Given the description of an element on the screen output the (x, y) to click on. 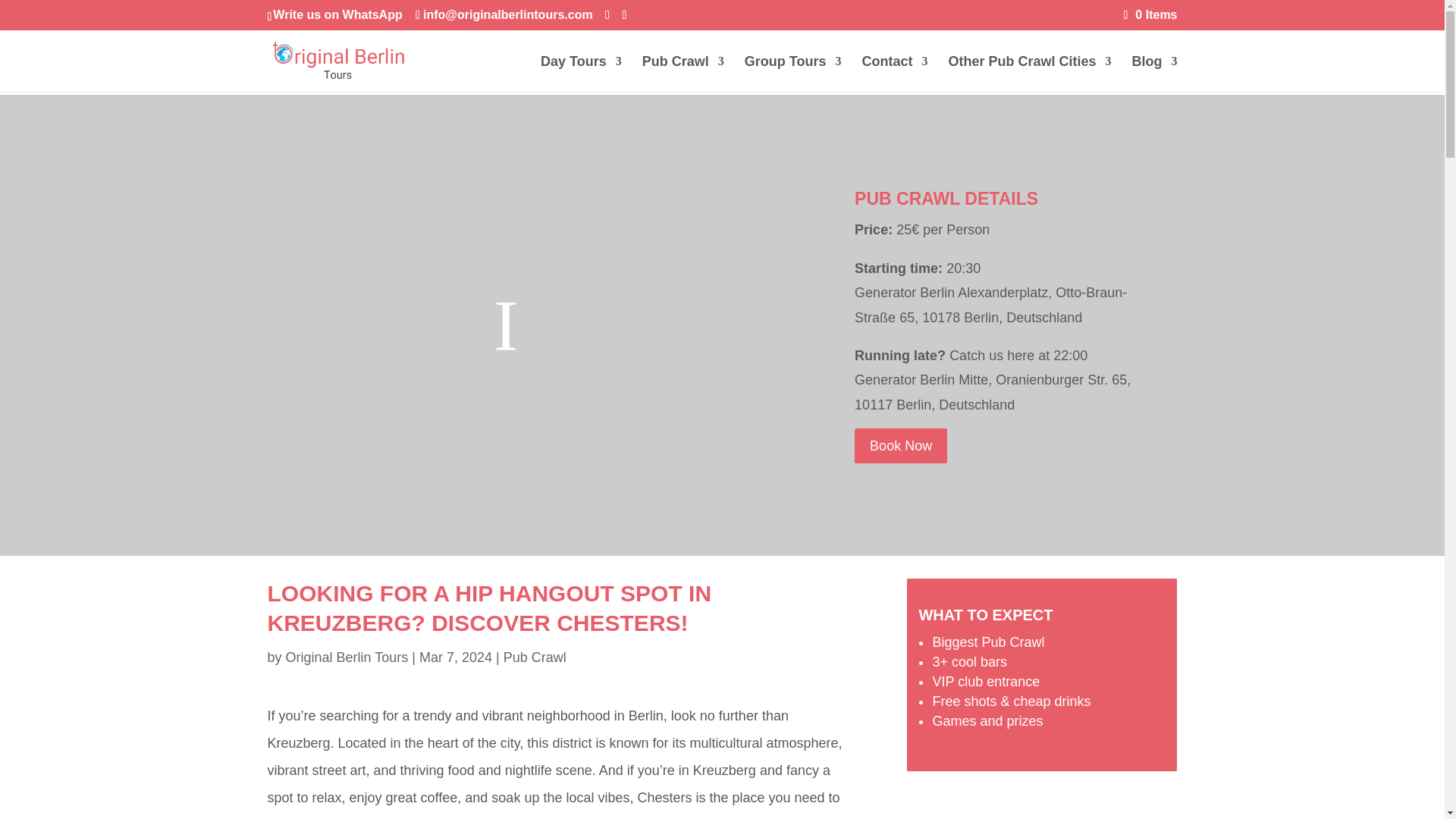
0 Items (1150, 14)
Group Tours (792, 73)
Day Tours (580, 73)
Contact (894, 73)
Write us on WhatsApp (337, 14)
Pub Crawl (682, 73)
Posts by Original Berlin Tours (347, 657)
